Given the description of an element on the screen output the (x, y) to click on. 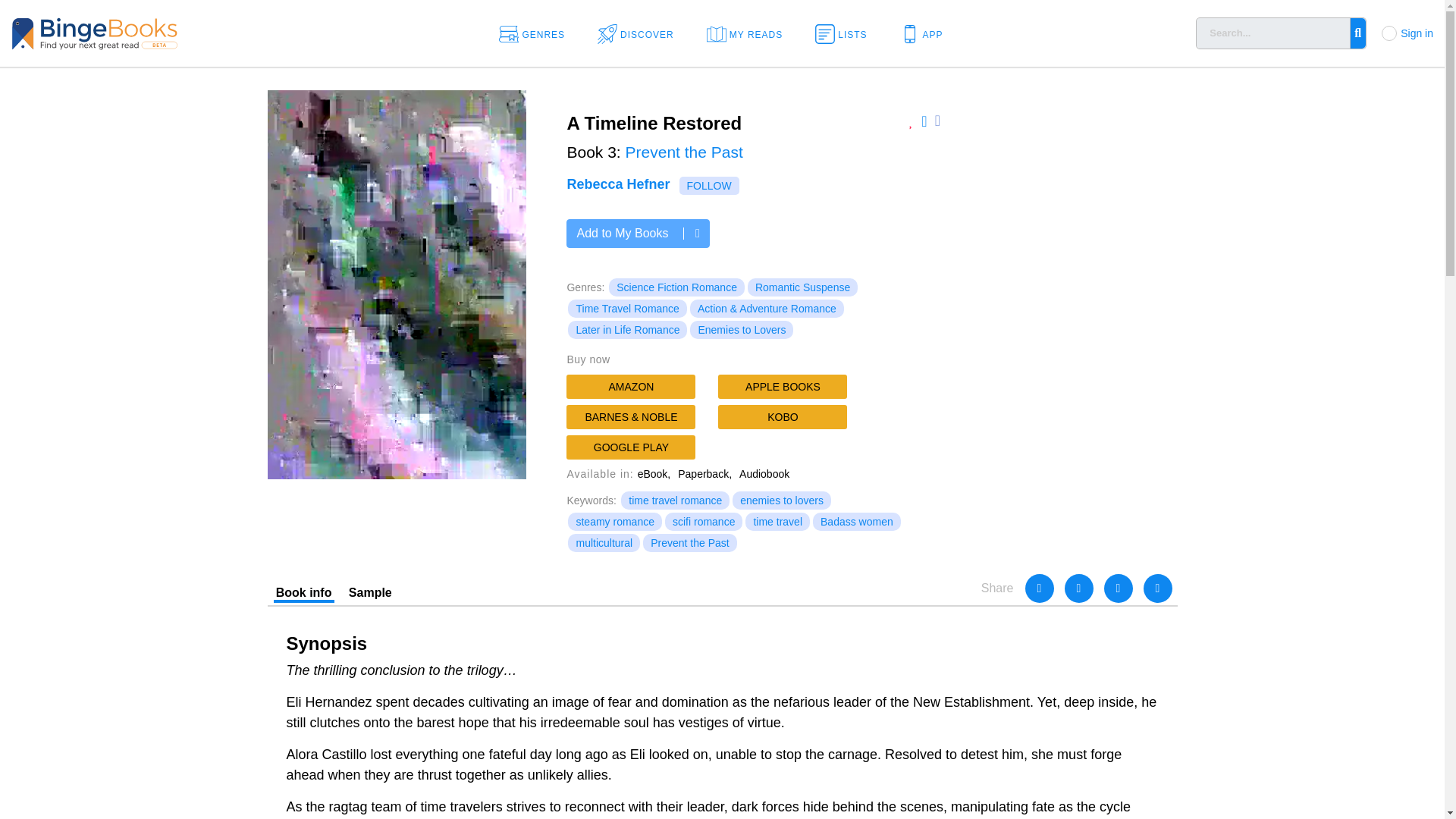
Add to My Books (637, 233)
LISTS (845, 33)
Sign in (1416, 33)
Time Travel Romance (626, 308)
FOLLOW (709, 185)
Genres (537, 33)
Science Fiction Romance (676, 287)
Discover (640, 33)
Prevent the Past (684, 151)
MY READS (749, 33)
